Given the description of an element on the screen output the (x, y) to click on. 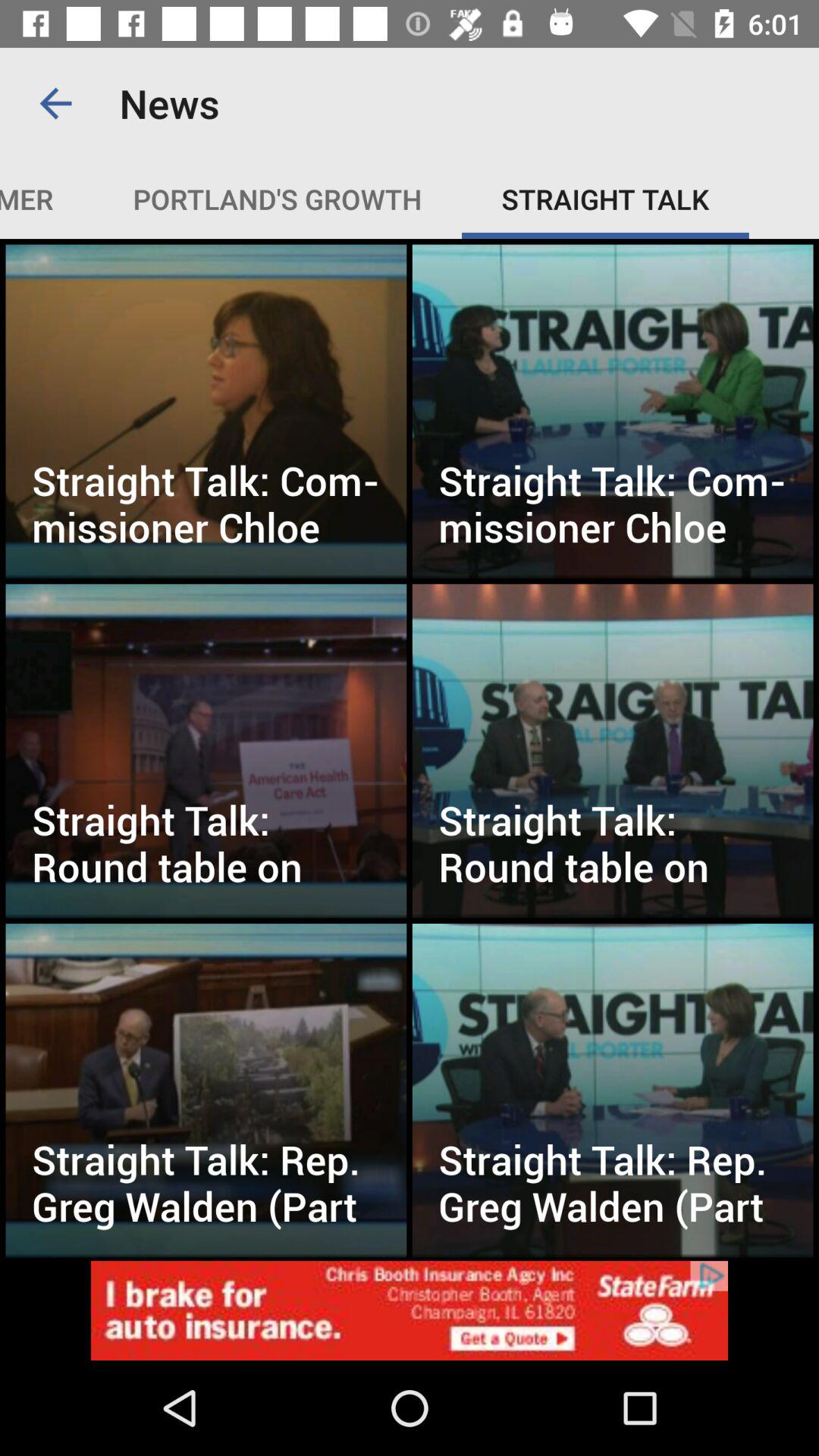
advertisement display (409, 1310)
